Given the description of an element on the screen output the (x, y) to click on. 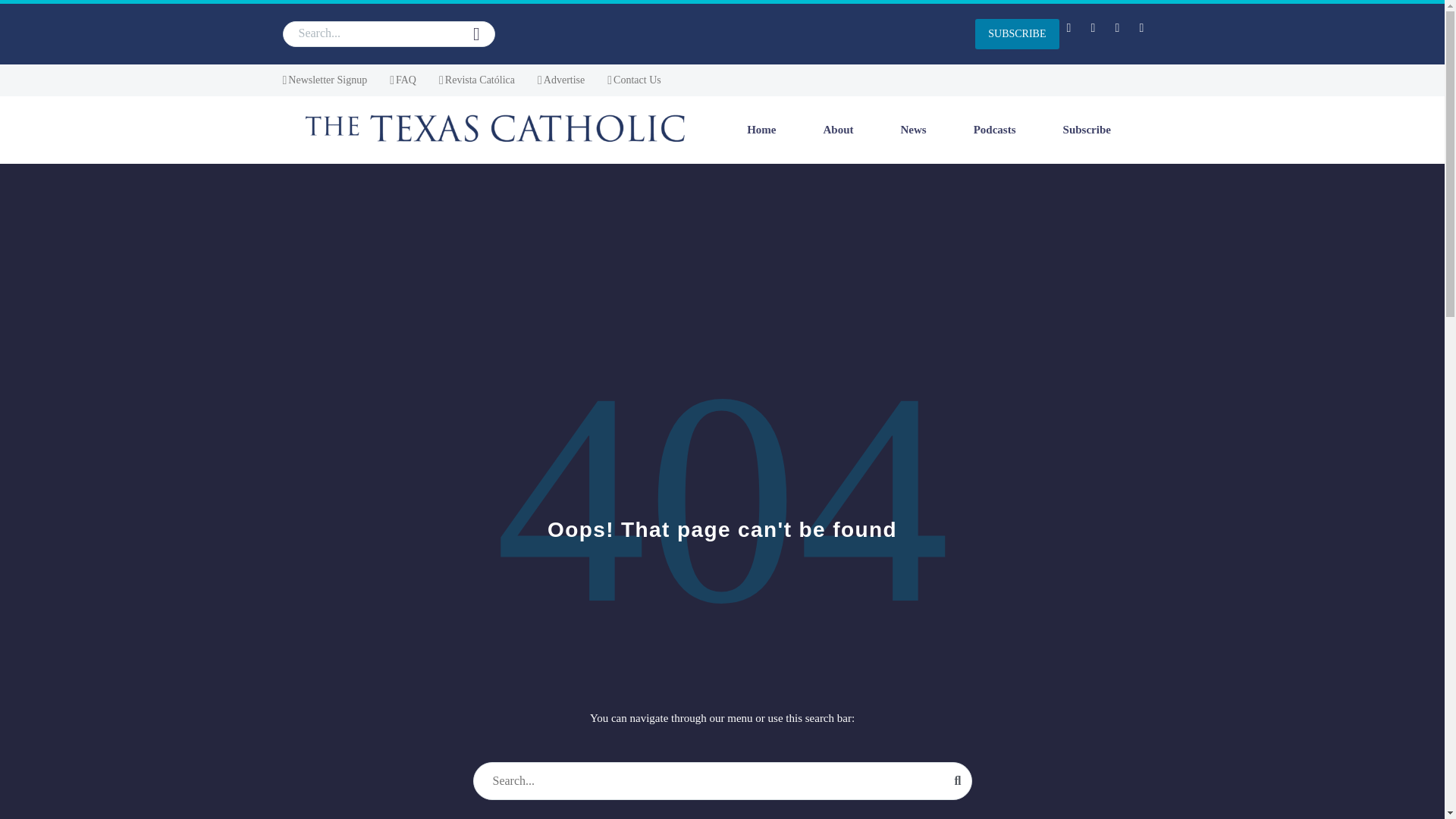
About (838, 129)
SUBSCRIBE (1016, 33)
Contact Us (634, 80)
Advertise (561, 80)
News (913, 129)
Home (761, 129)
FAQ (403, 80)
Podcasts (993, 129)
Subscribe (1086, 129)
Newsletter Signup (324, 80)
